Given the description of an element on the screen output the (x, y) to click on. 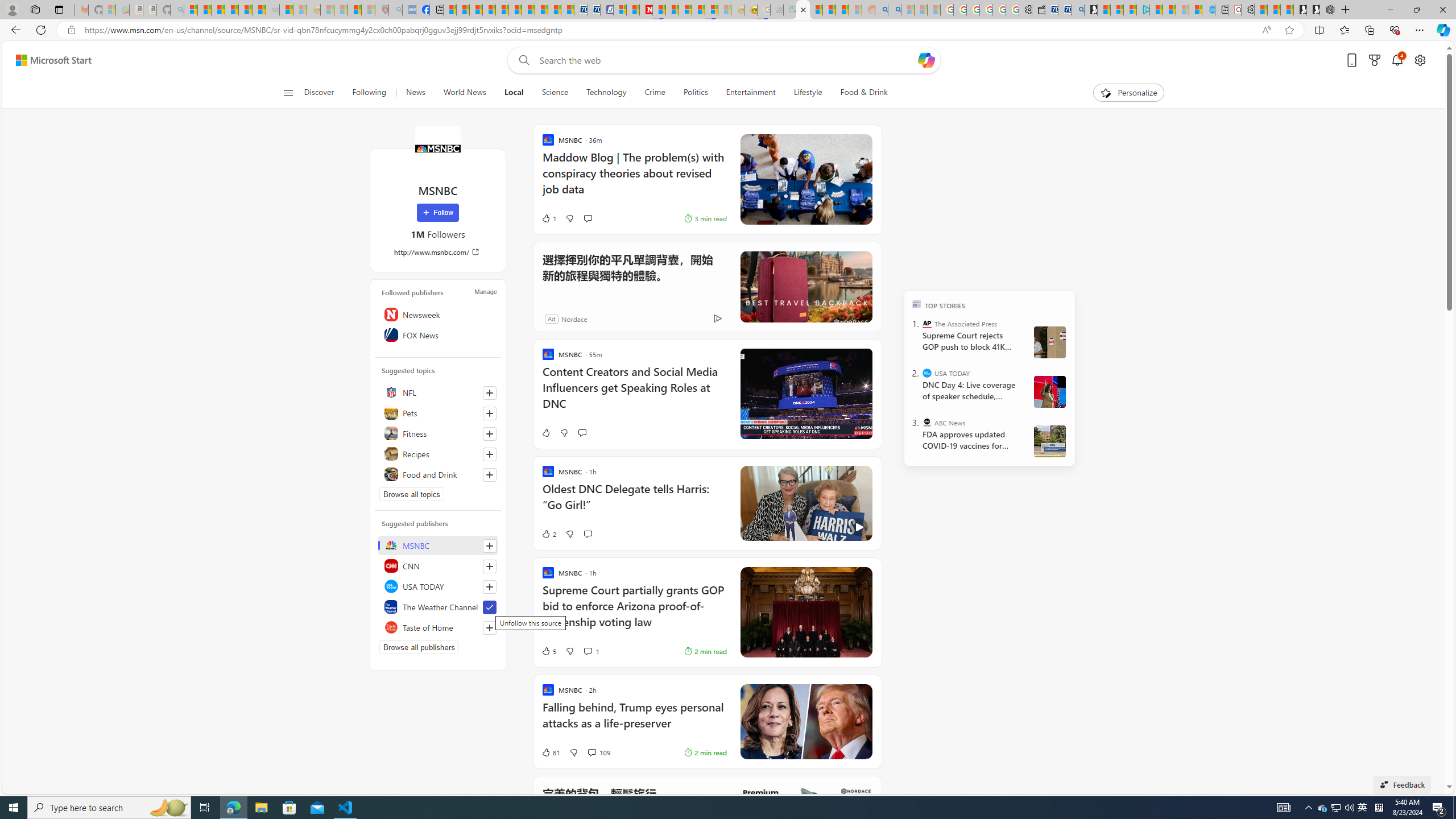
ABC News (927, 422)
Follow this source (489, 627)
